Given the description of an element on the screen output the (x, y) to click on. 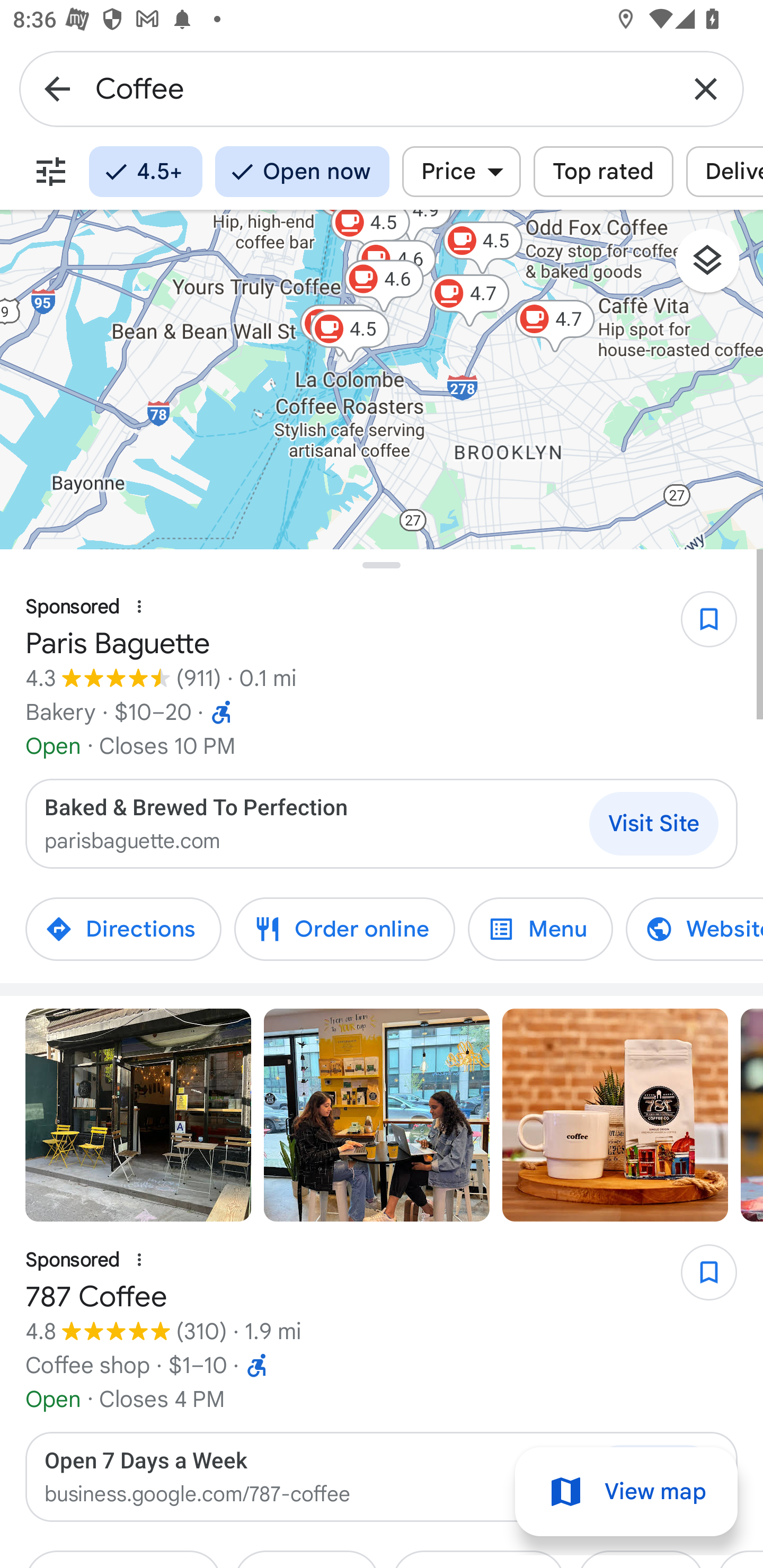
Back (57, 88)
Coffee (381, 88)
Clear (705, 88)
More filters (50, 171)
4.5+ (145, 171)
Open now (302, 171)
Price (461, 171)
Top rated (603, 171)
Delivery Delivery Delivery (724, 171)
Layers (716, 267)
About this ad (139, 606)
Save Paris Baguette to lists (699, 625)
Order online Order online Order online (344, 928)
Paris Baguette Menu Menu Paris Baguette Menu (539, 928)
Website (681, 928)
Photo (138, 1114)
Photo (376, 1114)
Photo (614, 1114)
Photo (751, 1114)
About this ad (139, 1259)
Save 787 Coffee to lists (699, 1278)
View map Map view (626, 1491)
